Given the description of an element on the screen output the (x, y) to click on. 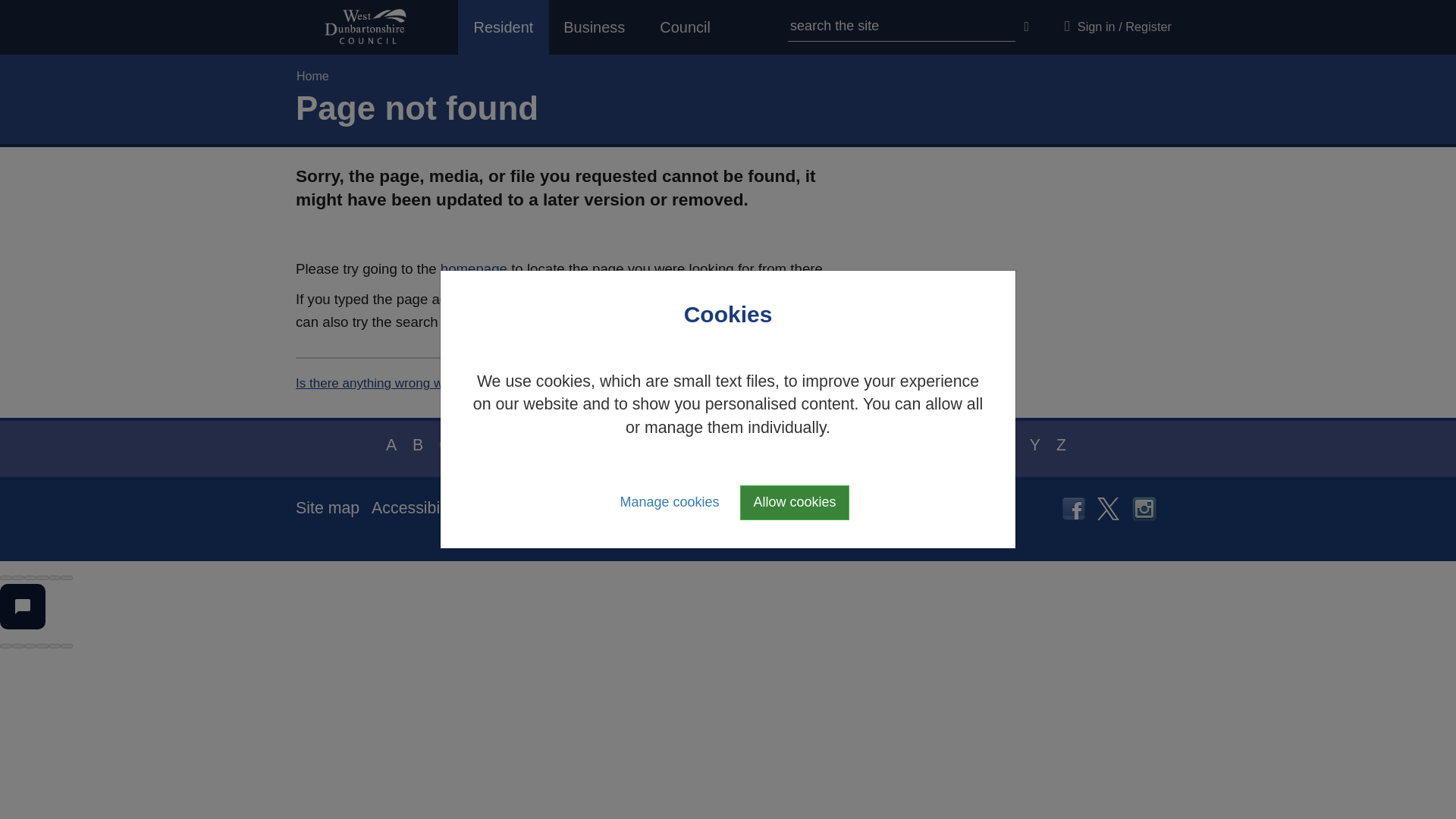
I (604, 444)
E (500, 444)
S (871, 444)
F (526, 444)
Allow cookies (793, 502)
P (788, 444)
homepage (473, 268)
U (922, 444)
M (704, 444)
Home (313, 75)
Council (685, 27)
A (390, 444)
C (444, 444)
K (652, 444)
B (417, 444)
